Given the description of an element on the screen output the (x, y) to click on. 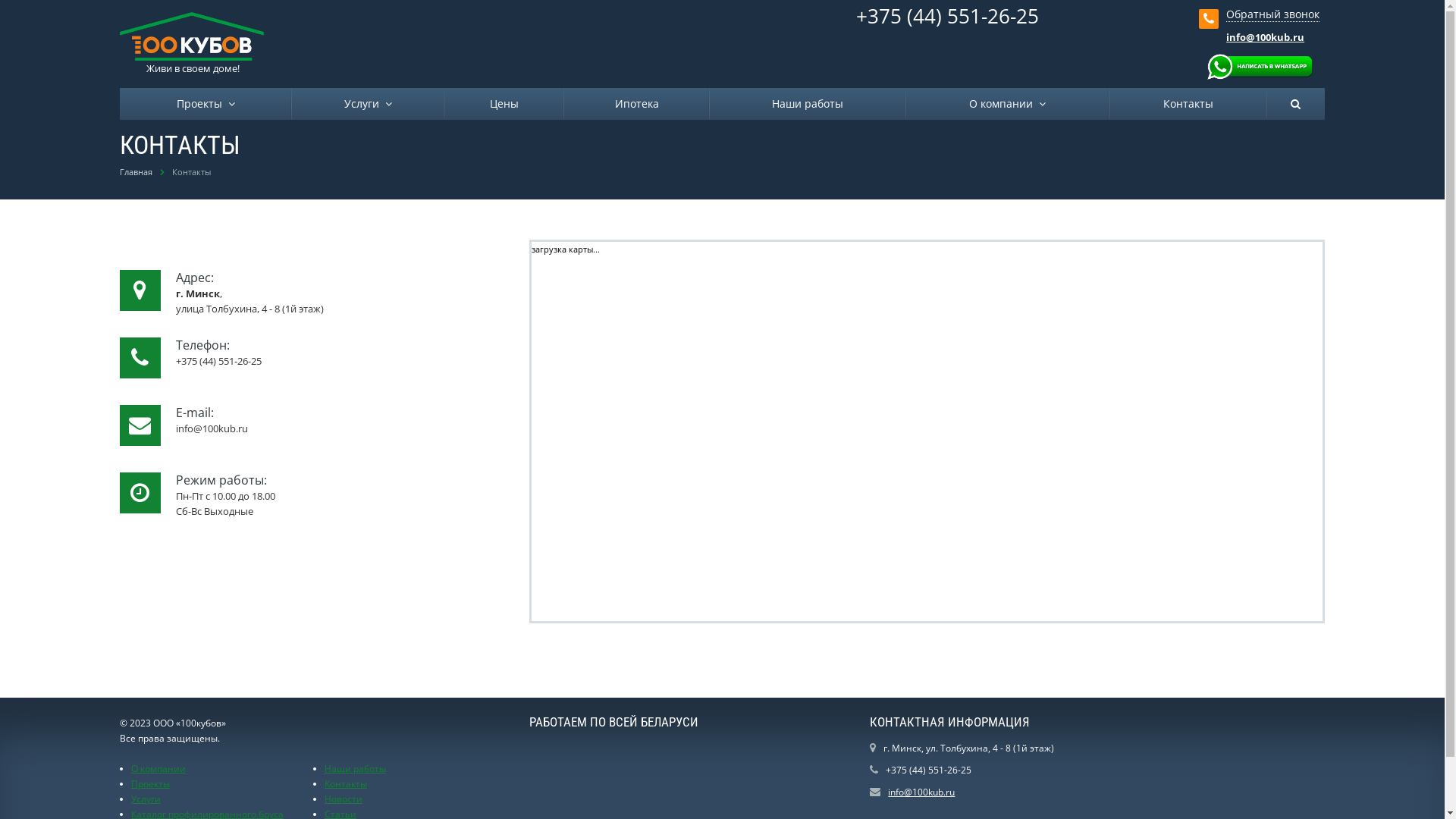
+375 (44) 551-26-25 Element type: text (947, 15)
info@100kub.ru Element type: text (921, 791)
+375 (44) 551-26-25 Element type: text (928, 769)
info@100kub.ru Element type: text (1265, 36)
